Given the description of an element on the screen output the (x, y) to click on. 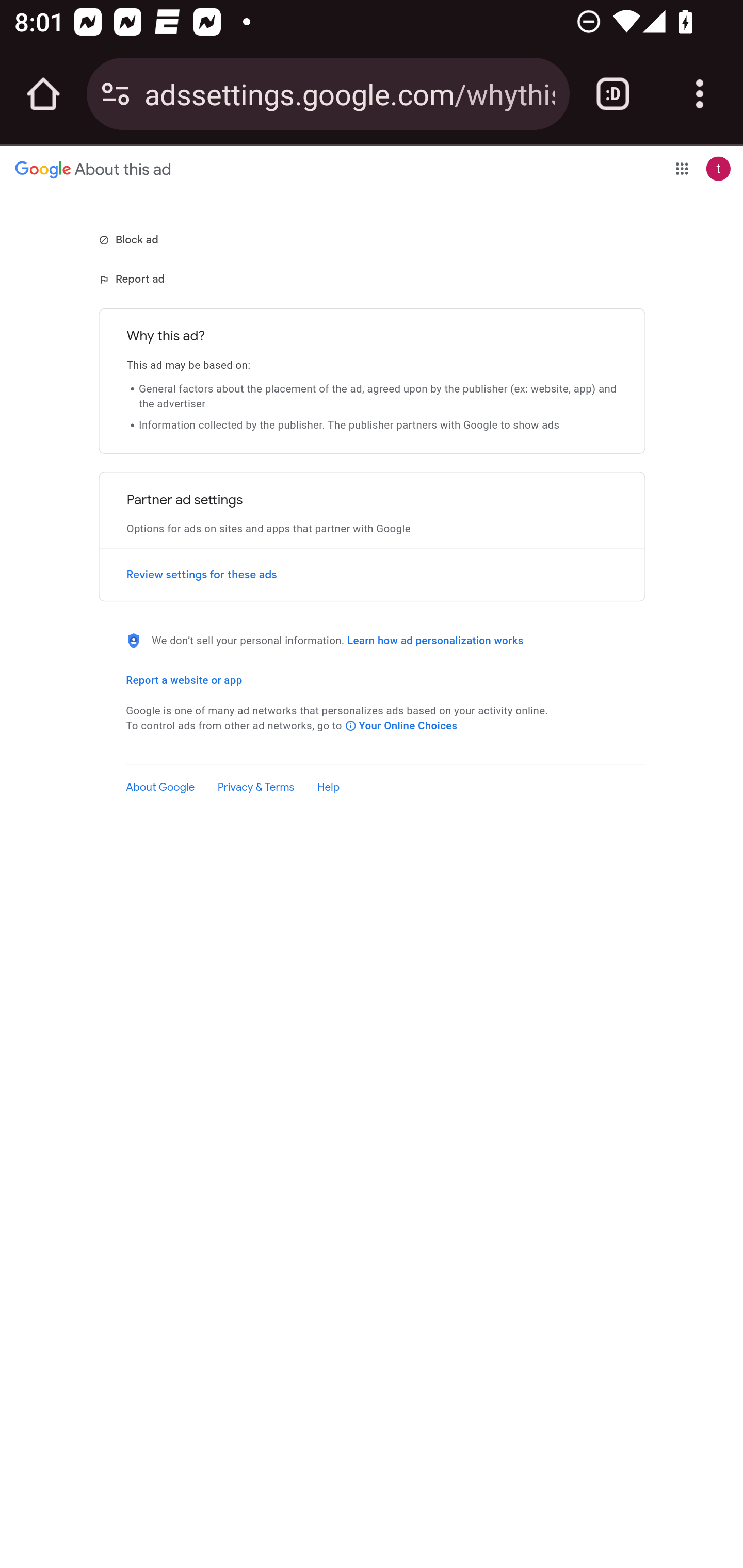
Open the home page (43, 93)
Connection is secure (115, 93)
Switch or close tabs (612, 93)
Customize and control Google Chrome (699, 93)
adssettings.google.com/whythisad (349, 92)
Google apps (681, 168)
Block ad (129, 239)
Report ad (opens in new tab) Report ad (133, 278)
Review settings for these ads (371, 574)
Learn how ad personalization works (434, 641)
Report a website or app (183, 680)
Your Online Choices (400, 725)
About Google (159, 787)
Privacy & Terms (255, 787)
Help (328, 787)
